Given the description of an element on the screen output the (x, y) to click on. 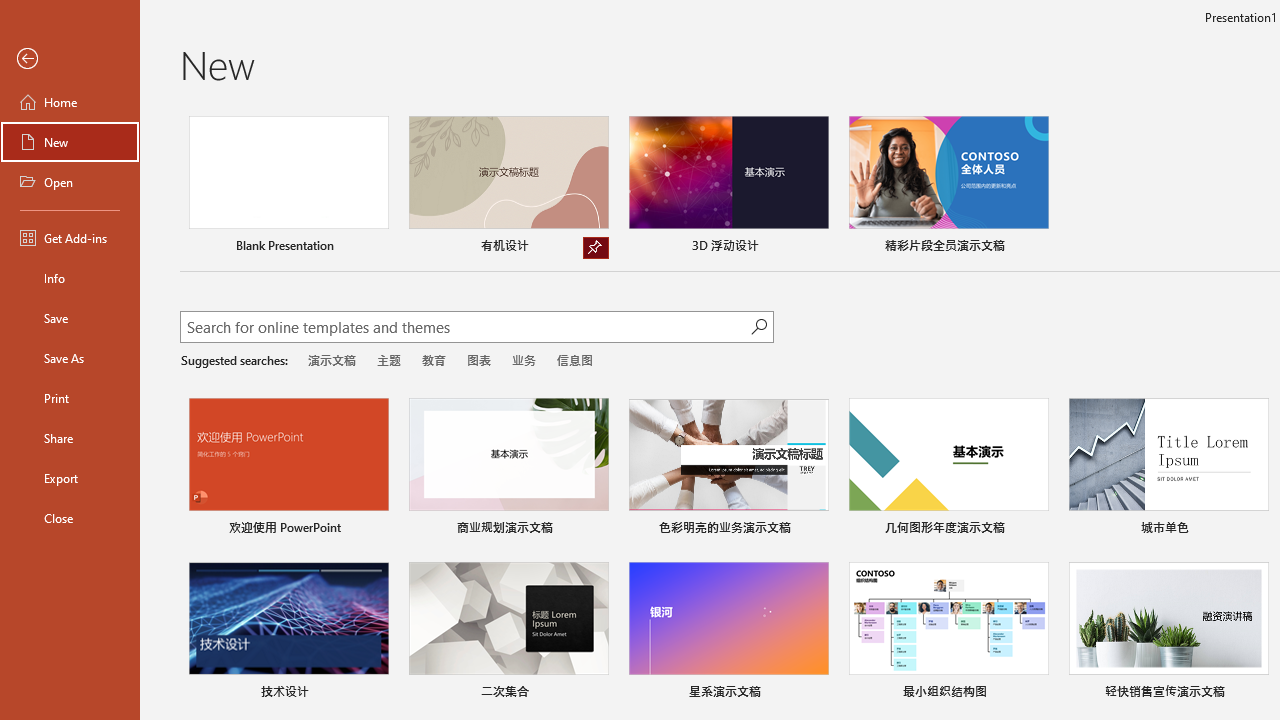
Info (69, 277)
Start searching (758, 326)
Search for online templates and themes (465, 329)
Get Add-ins (69, 237)
Pin to list (1255, 693)
